Given the description of an element on the screen output the (x, y) to click on. 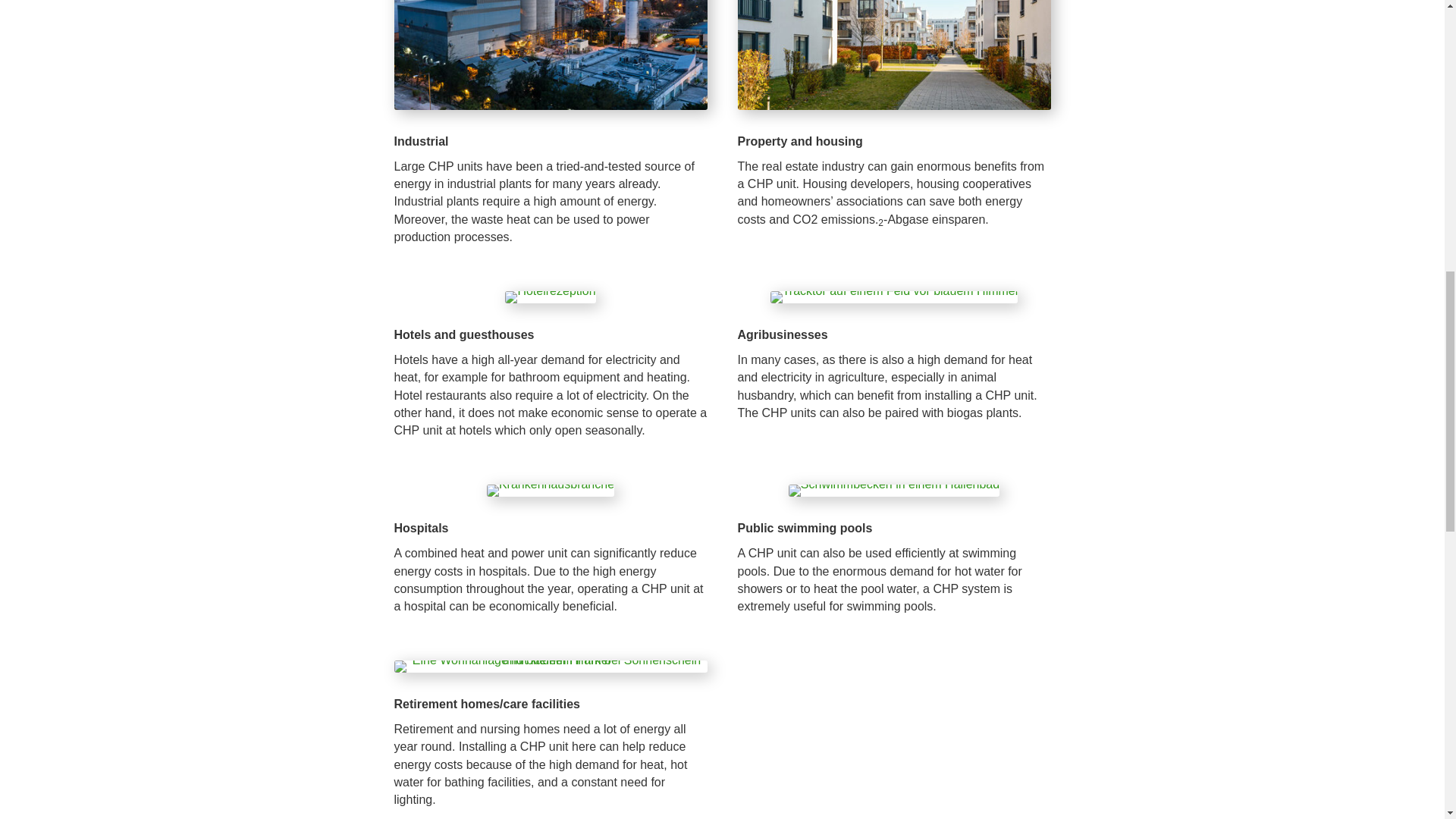
Energiekosten eines Seniorenheims senken mittels BHKW (550, 666)
Ein BHKW hilft Energiekosten eines Schwimmbades zu sparen (893, 490)
Energiekosten im Krankenhaus senken mittels BHKW (550, 490)
